Given the description of an element on the screen output the (x, y) to click on. 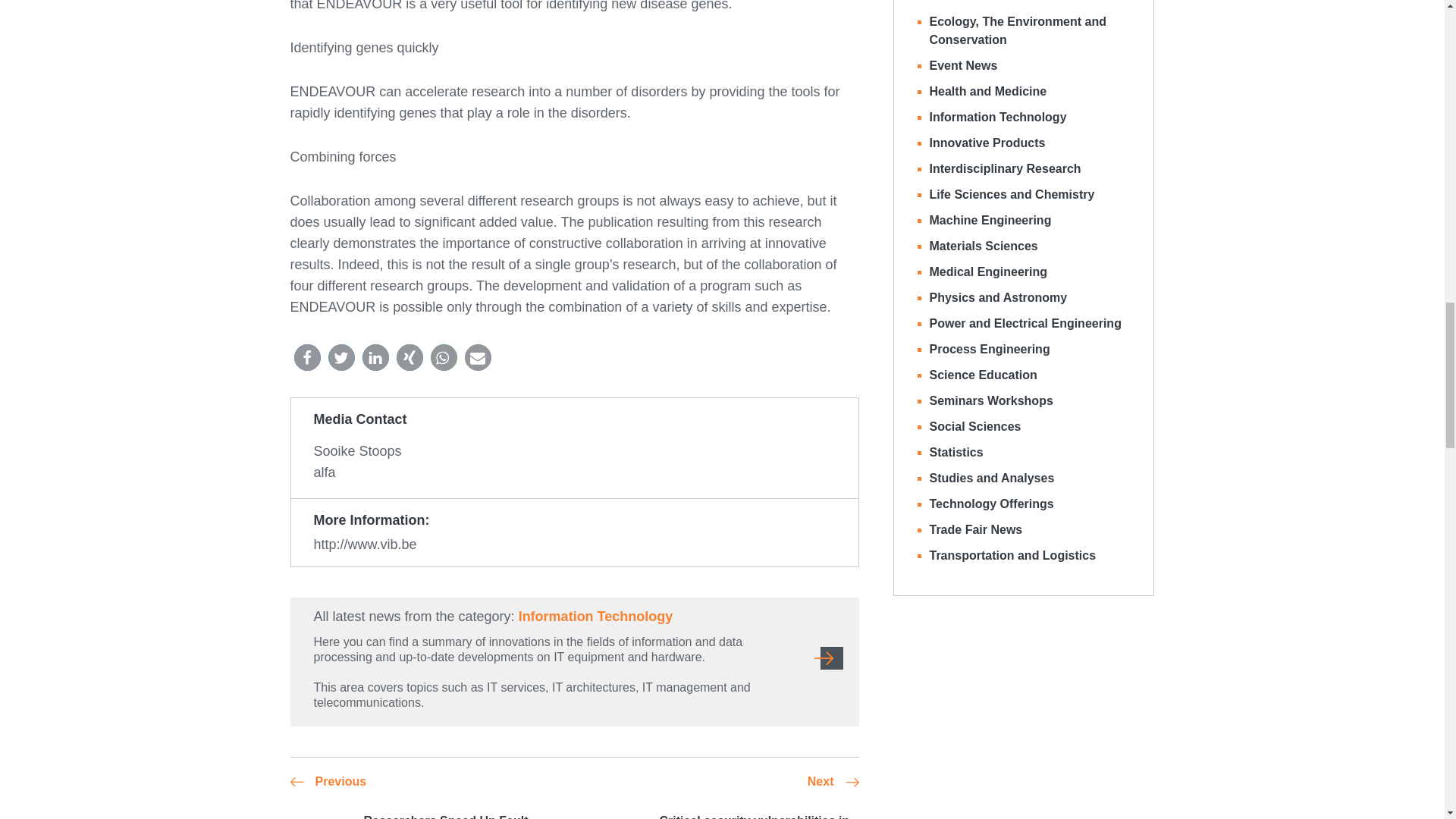
Share on LinkedIn (375, 357)
Share on Facebook (307, 357)
Share on Whatsapp (443, 357)
Send by email (477, 357)
Share on XING (409, 357)
Share on Twitter (340, 357)
